Given the description of an element on the screen output the (x, y) to click on. 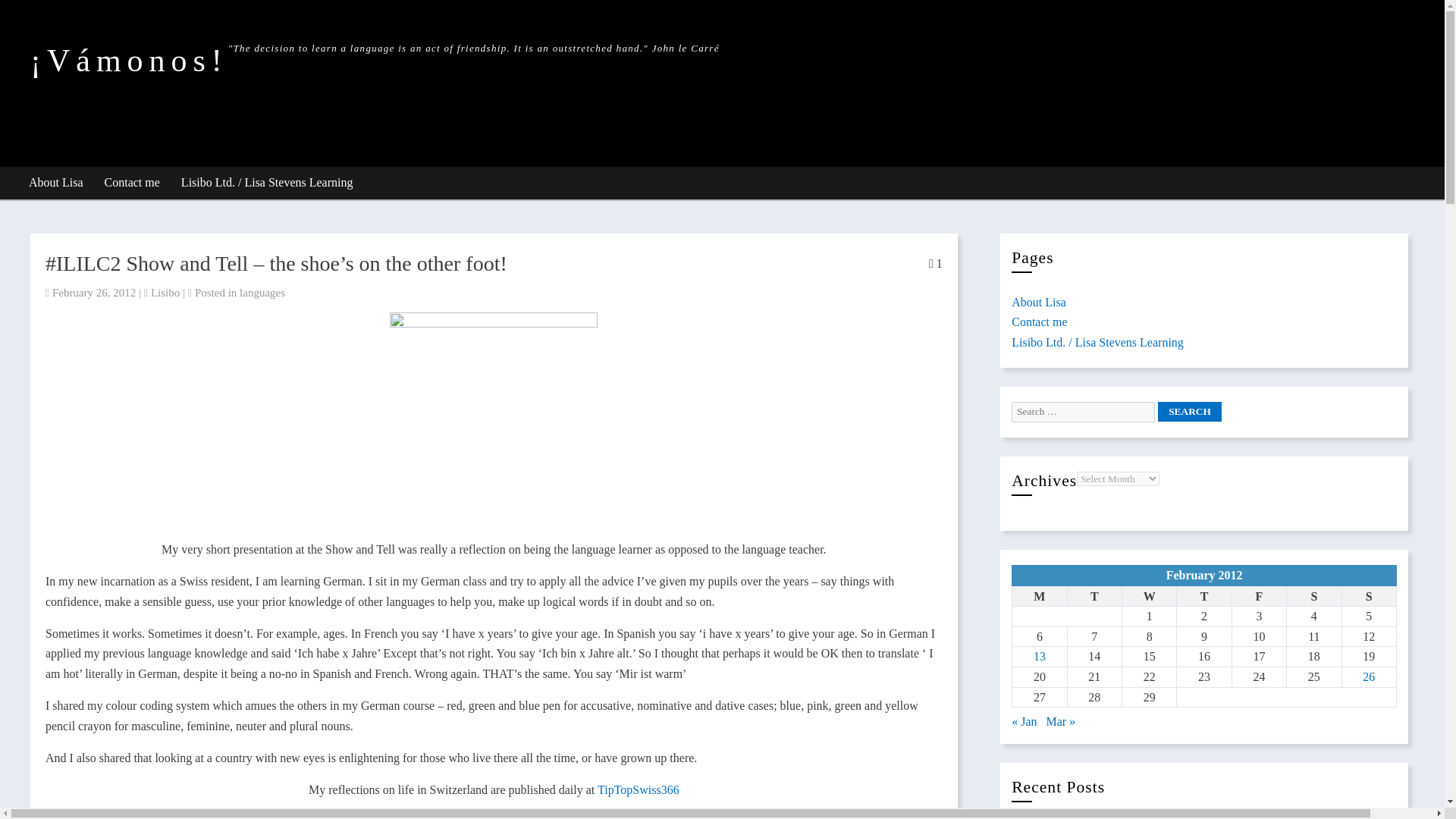
About Lisa (56, 183)
Thursday (1203, 596)
Contact me (132, 183)
Sunday (1368, 596)
About Lisa (1038, 301)
Saturday (1313, 596)
13 (1039, 656)
Lisibo (165, 292)
26 (1368, 676)
Monday (1039, 596)
